Given the description of an element on the screen output the (x, y) to click on. 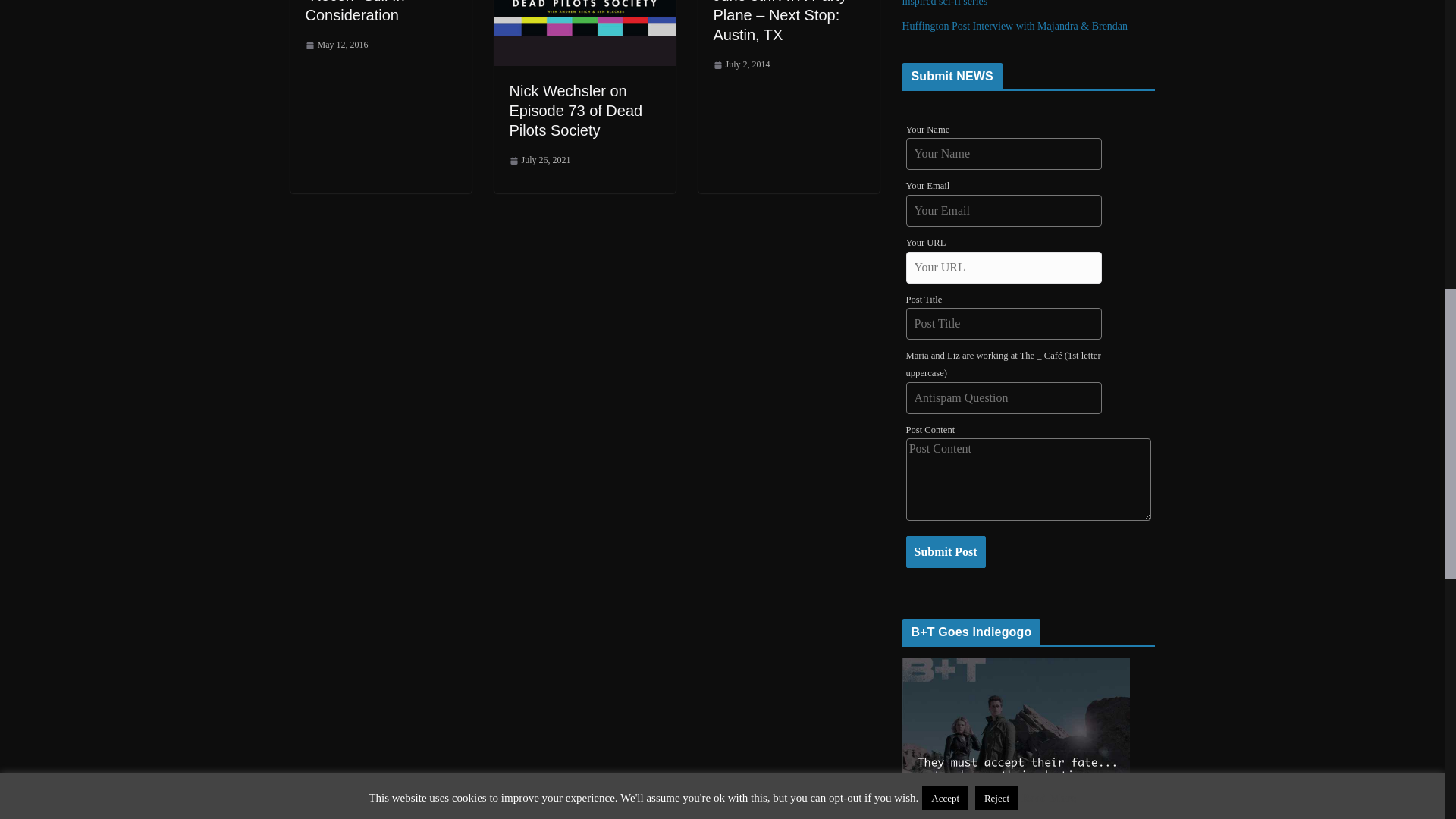
5:04 am (539, 160)
1:43 pm (336, 45)
Submit Post (945, 552)
May 12, 2016 (336, 45)
Nick Wechsler on Episode 73 of Dead Pilots Society (576, 110)
10:10 am (741, 64)
Nick Wechsler on Episode 73 of Dead Pilots Society (576, 110)
